Given the description of an element on the screen output the (x, y) to click on. 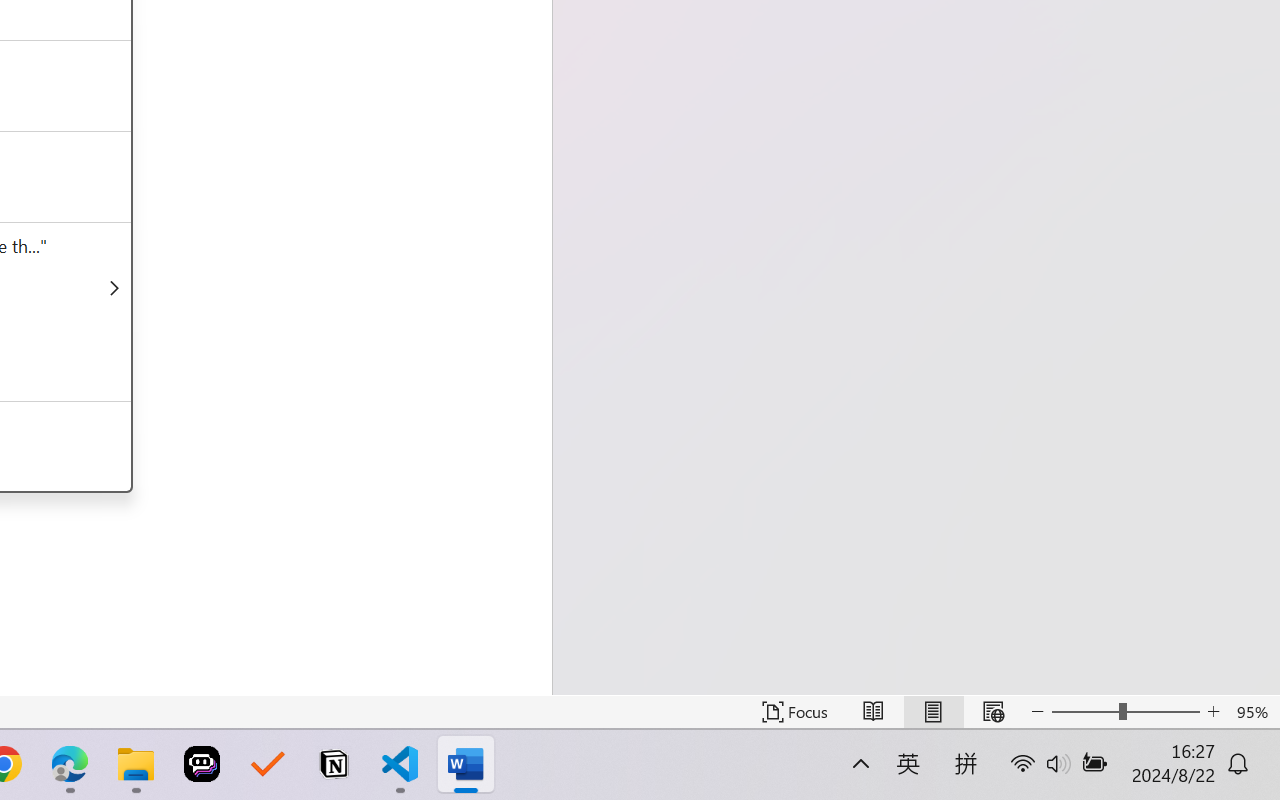
Zoom 95% (1253, 712)
Notion (333, 764)
Poe (201, 764)
